Given the description of an element on the screen output the (x, y) to click on. 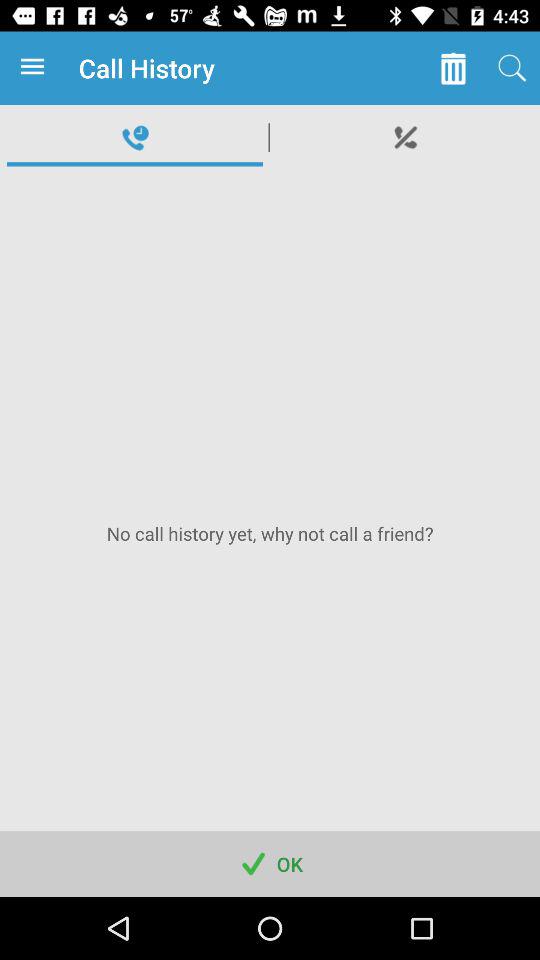
scroll to ok icon (270, 863)
